Given the description of an element on the screen output the (x, y) to click on. 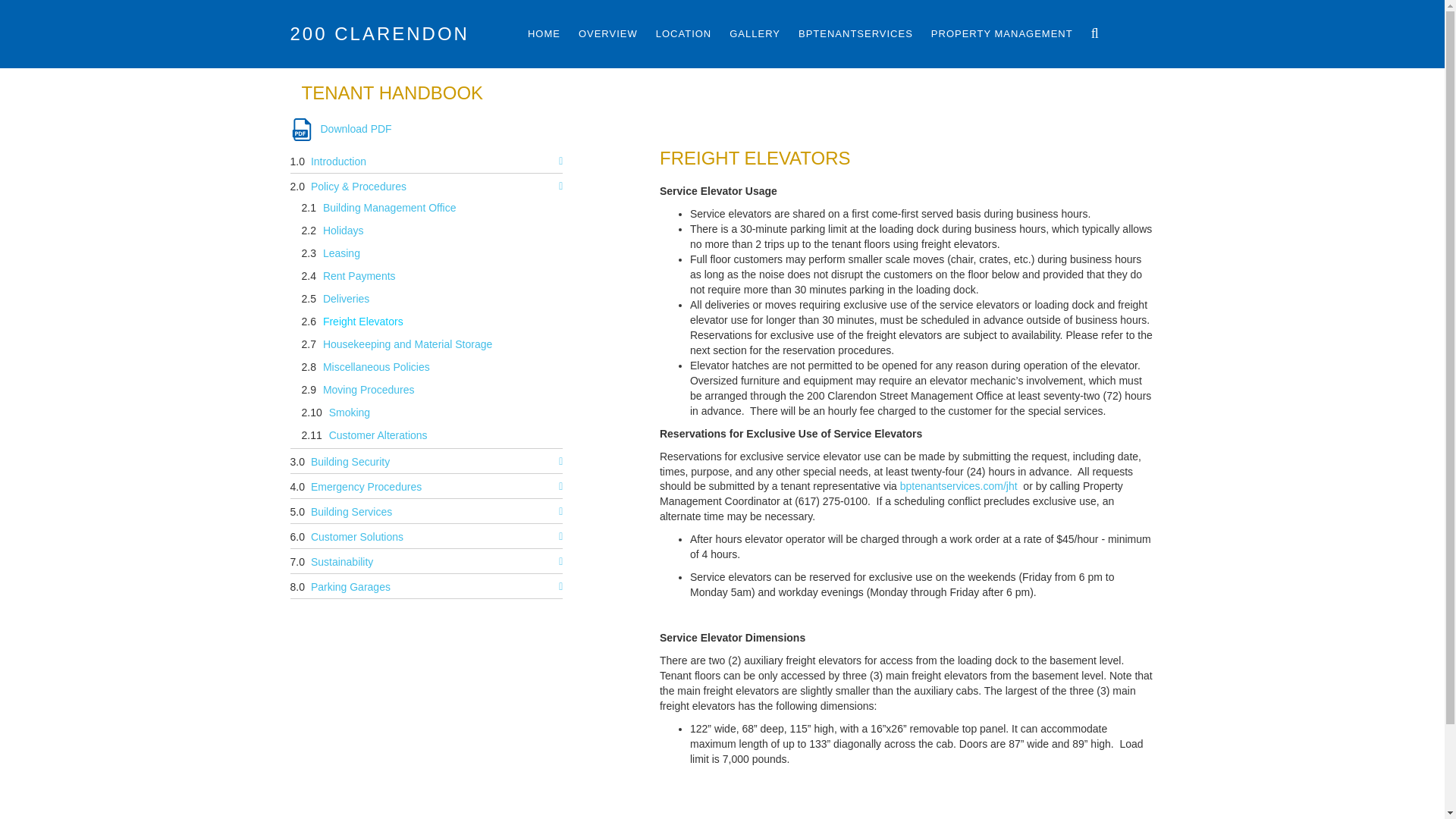
Customer Alterations (381, 436)
200 CLARENDON (397, 33)
Rent Payments (362, 277)
Holidays (346, 231)
HOME (543, 33)
PROPERTY MANAGEMENT (1002, 33)
Building Security (354, 460)
Miscellaneous Policies (379, 368)
LOCATION (683, 33)
Leasing (344, 254)
